Given the description of an element on the screen output the (x, y) to click on. 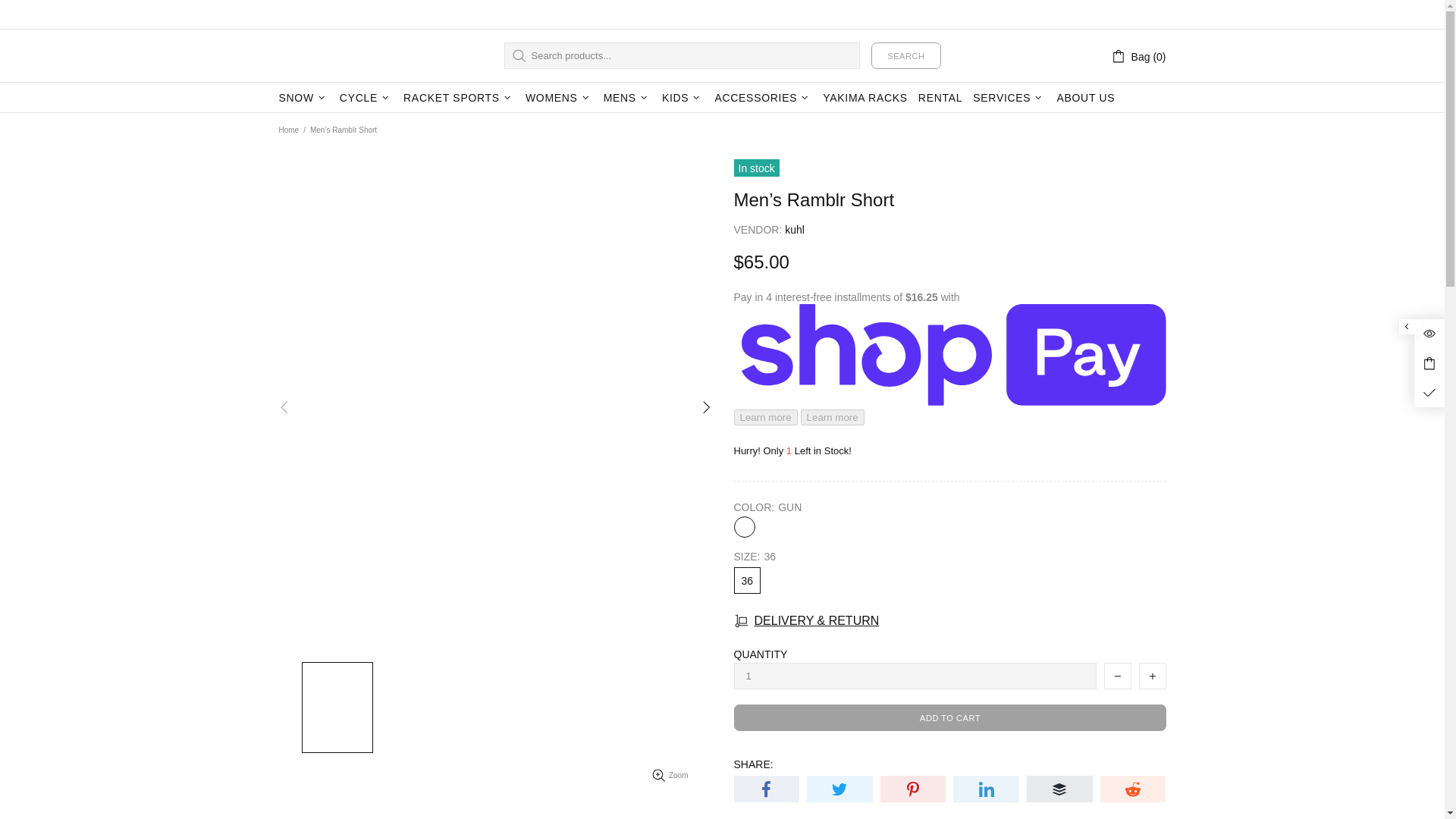
SEARCH (905, 55)
SNOW (303, 97)
CYCLE (365, 97)
Sporthaususa.com (357, 55)
1 (914, 675)
